Given the description of an element on the screen output the (x, y) to click on. 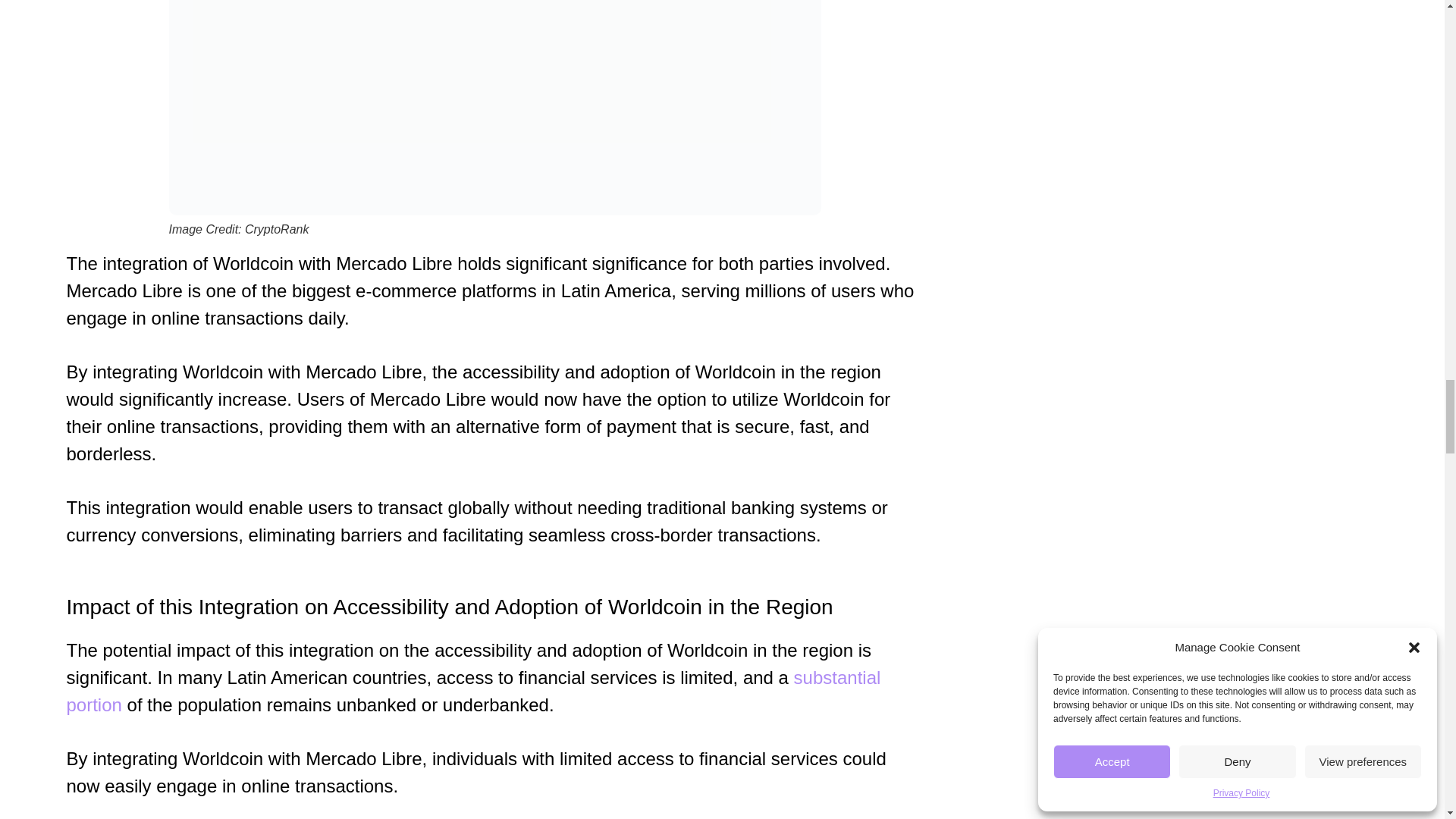
substantial portion (473, 690)
